Given the description of an element on the screen output the (x, y) to click on. 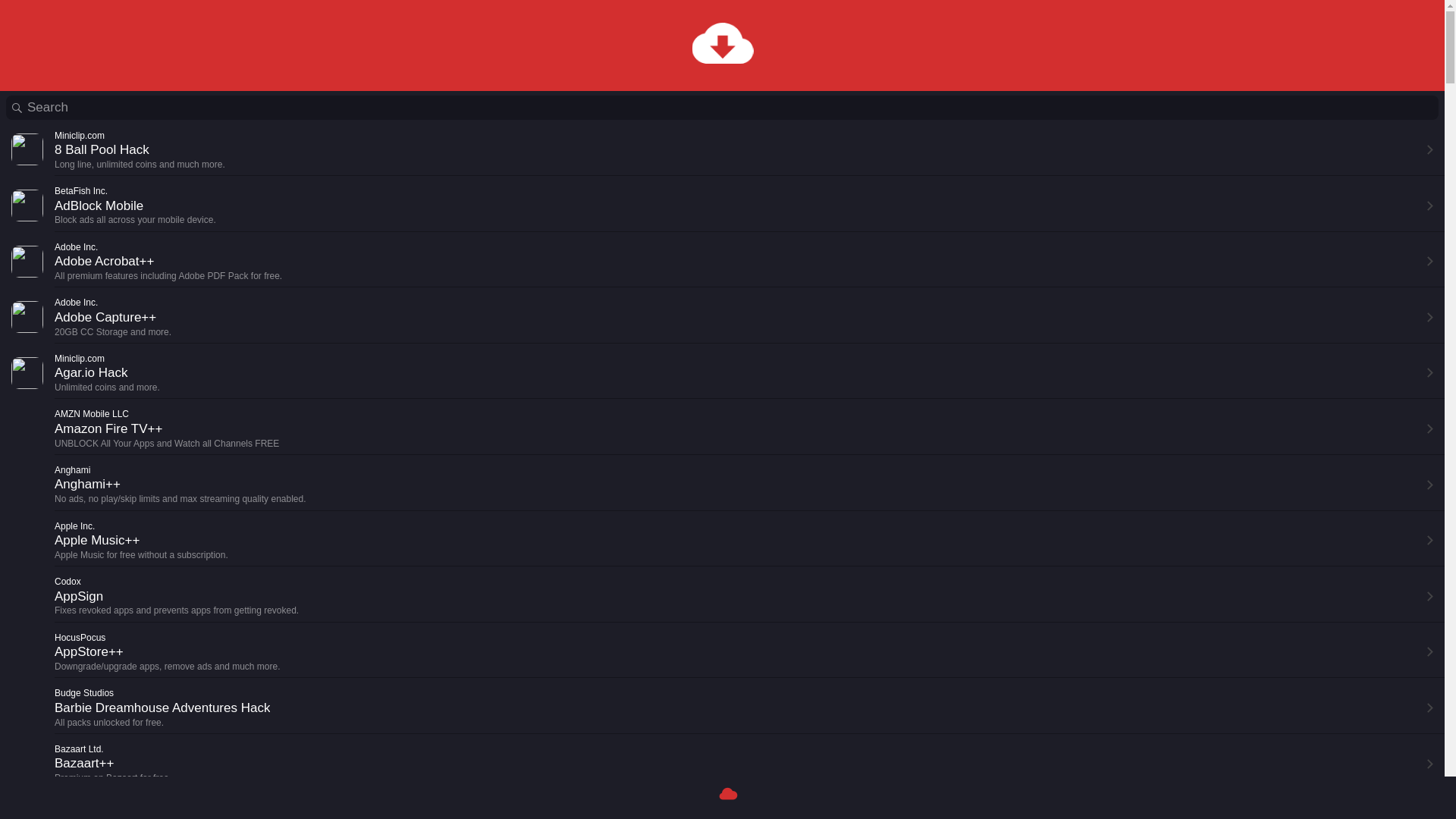
Miniclip.com
Agar.io Hack
Unlimited coins and more. Element type: text (722, 373)
Bazaart Ltd.
Bazaart++
Premium on Bazaart for free. Element type: text (722, 763)
Adobe Inc.
Adobe Capture++
20GB CC Storage and more. Element type: text (722, 317)
